Given the description of an element on the screen output the (x, y) to click on. 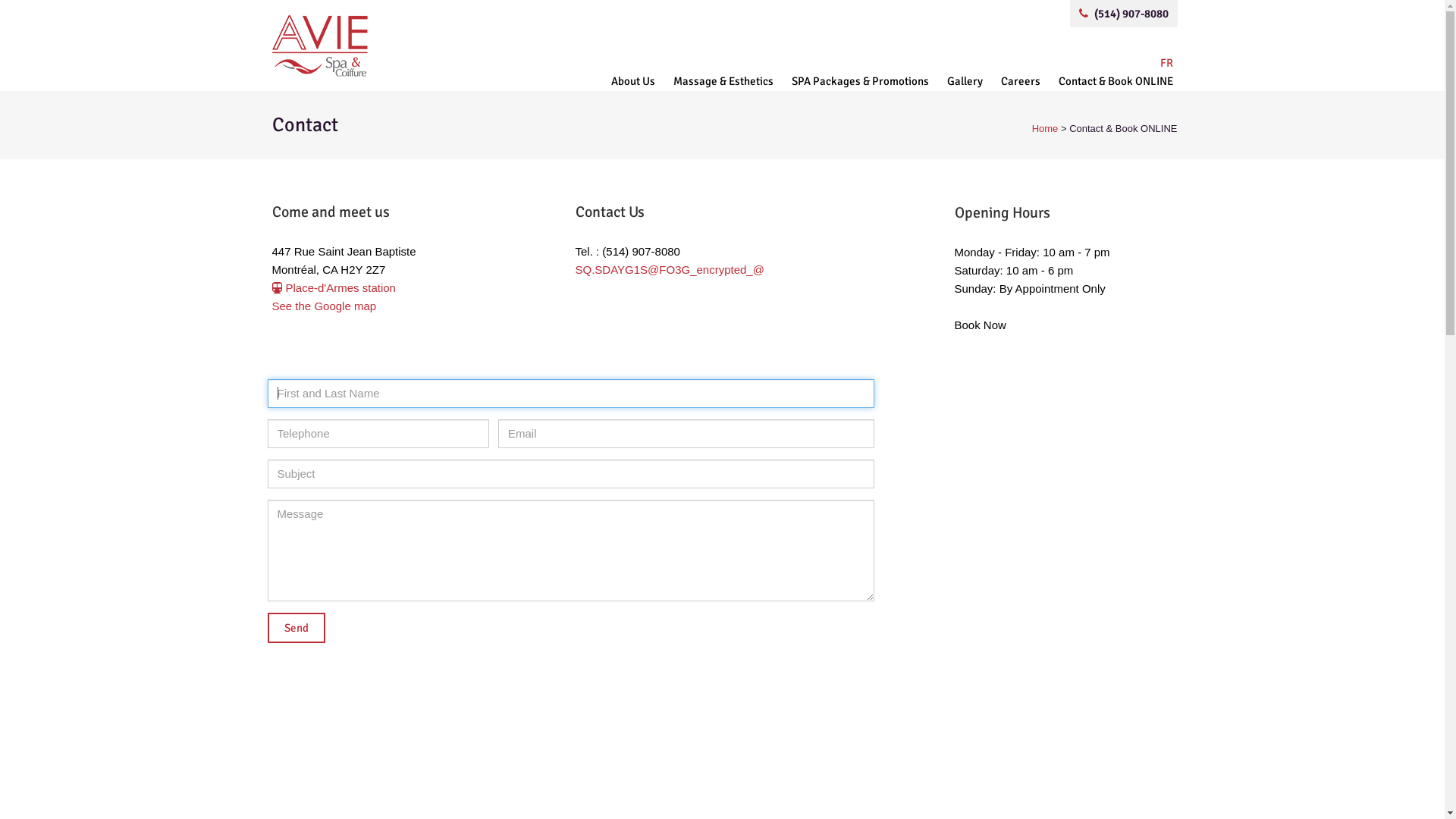
About Us Element type: text (633, 81)
See the Google map Element type: text (323, 304)
FR Element type: text (1162, 62)
Careers Element type: text (1020, 81)
SQ.SDAYG1S@FO3G_encrypted_@ Element type: text (668, 268)
Home Element type: text (1045, 128)
Gallery Element type: text (964, 81)
Massage & Esthetics Element type: text (723, 81)
Contact & Book ONLINE Element type: text (1111, 81)
Place-d'Armes station Element type: text (340, 286)
Send Element type: text (295, 627)
SPA Packages & Promotions Element type: text (860, 81)
AVIE Spa & Coiffure Element type: hover (418, 45)
Book Now Element type: text (1062, 324)
